Given the description of an element on the screen output the (x, y) to click on. 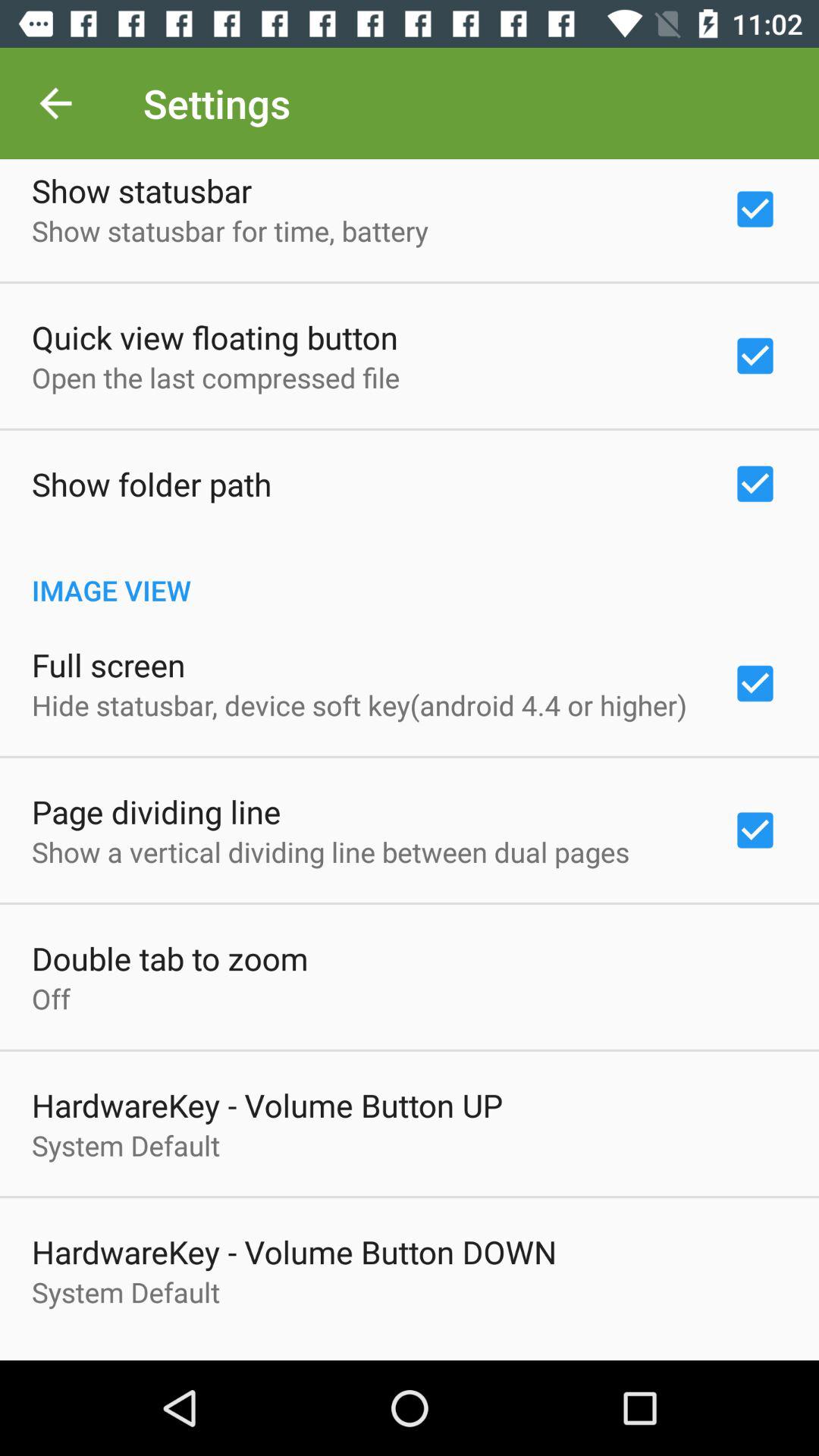
click the icon below quick view floating item (215, 377)
